Given the description of an element on the screen output the (x, y) to click on. 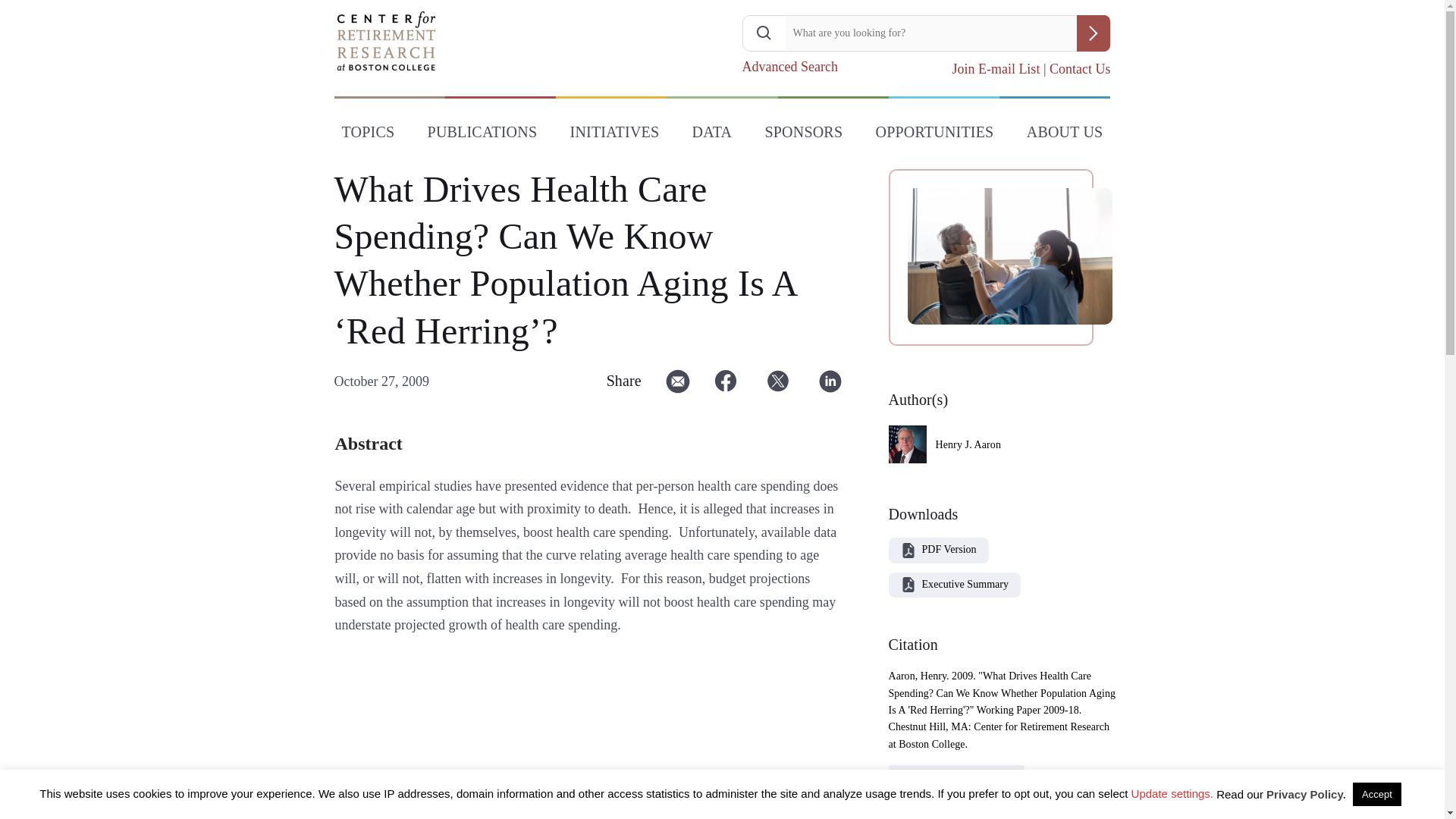
OPPORTUNITIES (934, 135)
Share on Twitter (778, 387)
DATA (711, 135)
Contact Us (1079, 68)
SPONSORS (803, 135)
Copy citation to clipboard (957, 776)
INITIATIVES (614, 135)
Join E-mail List (995, 68)
ABOUT US (1064, 135)
Posts by Henry J. Aaron (968, 444)
PUBLICATIONS (482, 135)
TOPICS (367, 135)
Executive Summary (965, 583)
PDF Version (948, 549)
Advanced Search (789, 66)
